Given the description of an element on the screen output the (x, y) to click on. 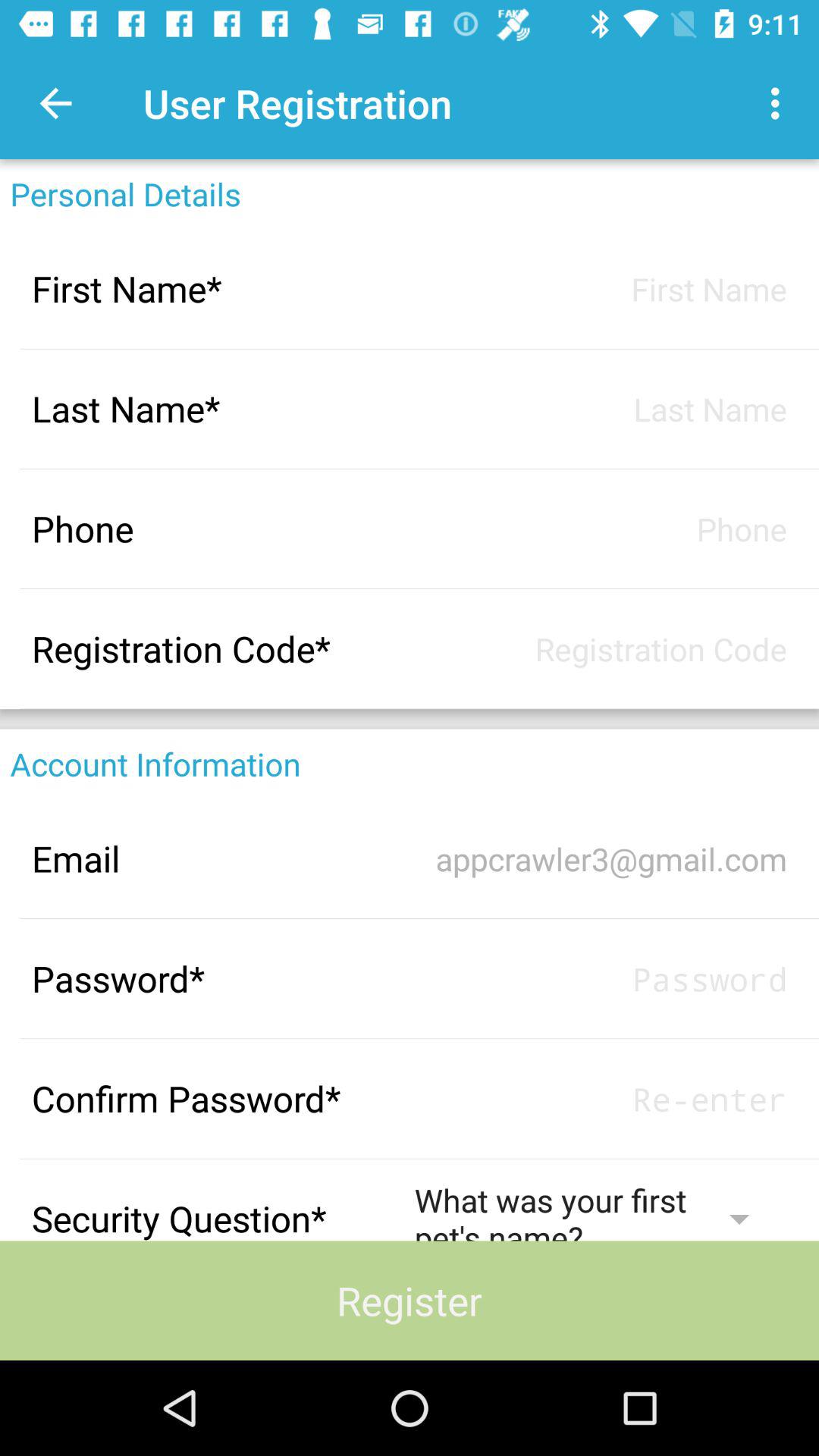
blank column (600, 648)
